Given the description of an element on the screen output the (x, y) to click on. 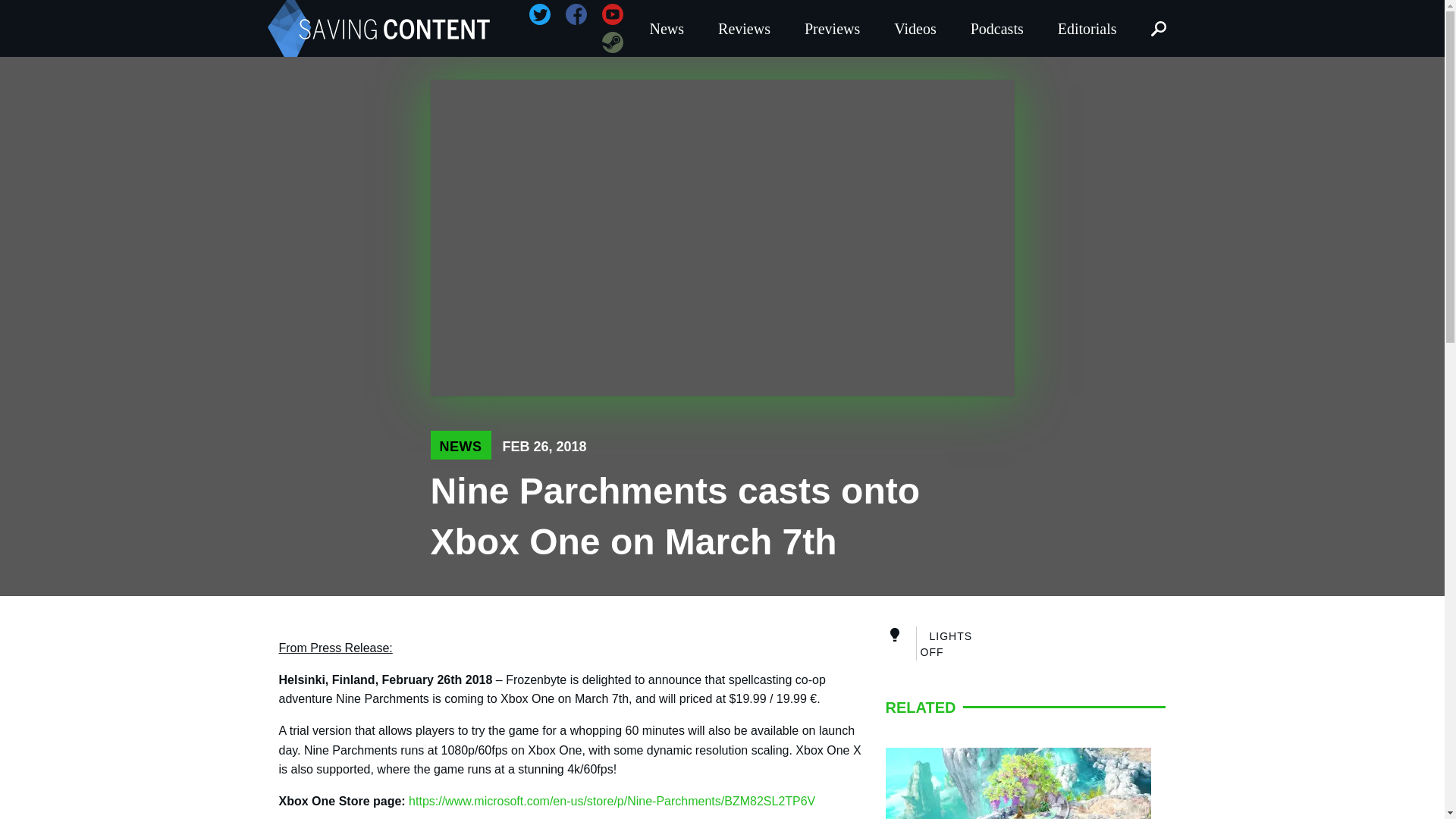
Reviews (743, 27)
Editorials (1087, 27)
Podcasts (997, 27)
Previews (831, 27)
News (667, 27)
Videos (914, 27)
